Given the description of an element on the screen output the (x, y) to click on. 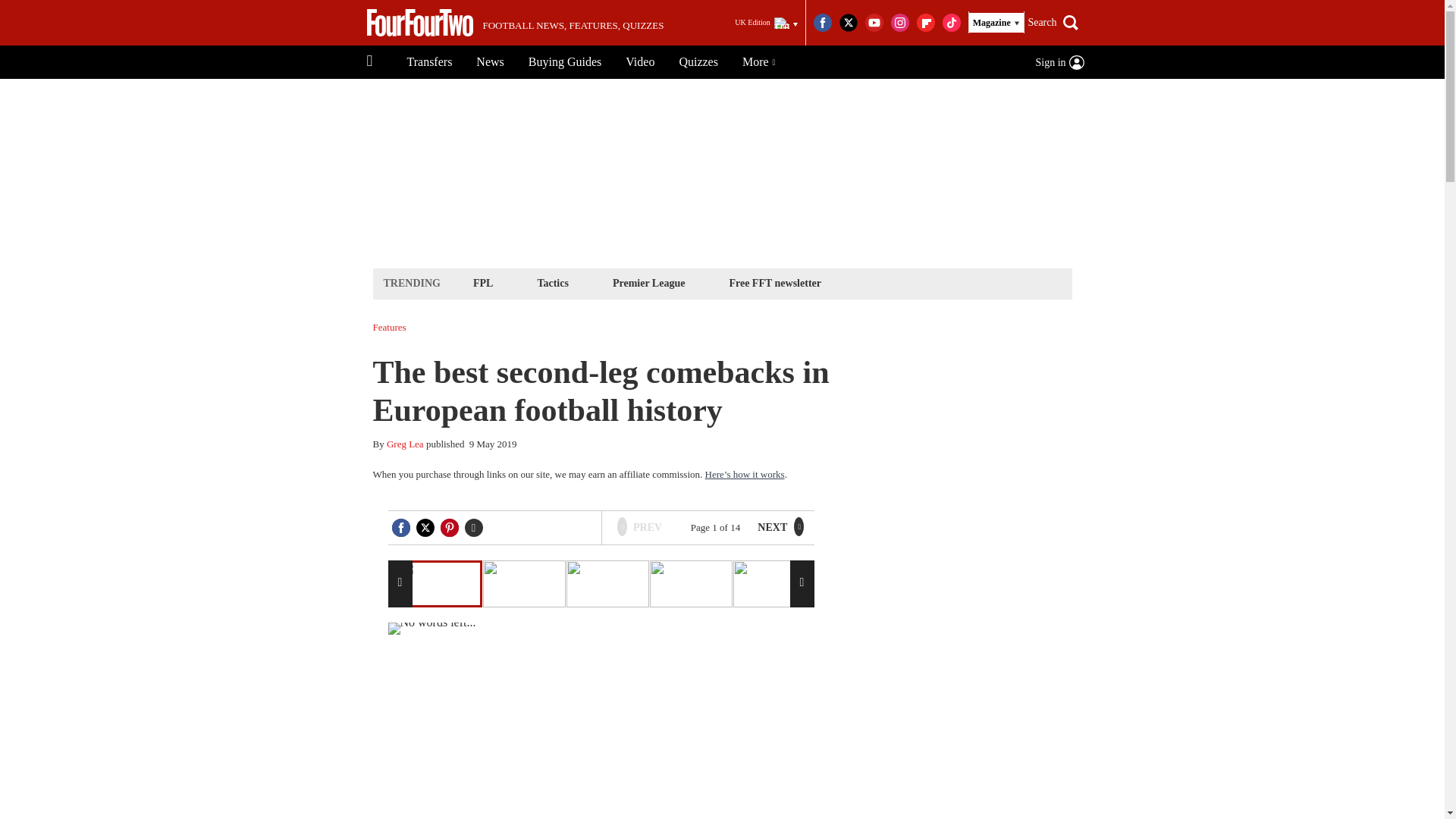
FOOTBALL NEWS, FEATURES, QUIZZES (514, 22)
Buying Guides (564, 61)
Tactics (552, 282)
Premier League (648, 282)
UK Edition (765, 22)
Quizzes (698, 61)
FPL (482, 282)
Transfers (429, 61)
Free FFT newsletter (775, 282)
Video (639, 61)
